Given the description of an element on the screen output the (x, y) to click on. 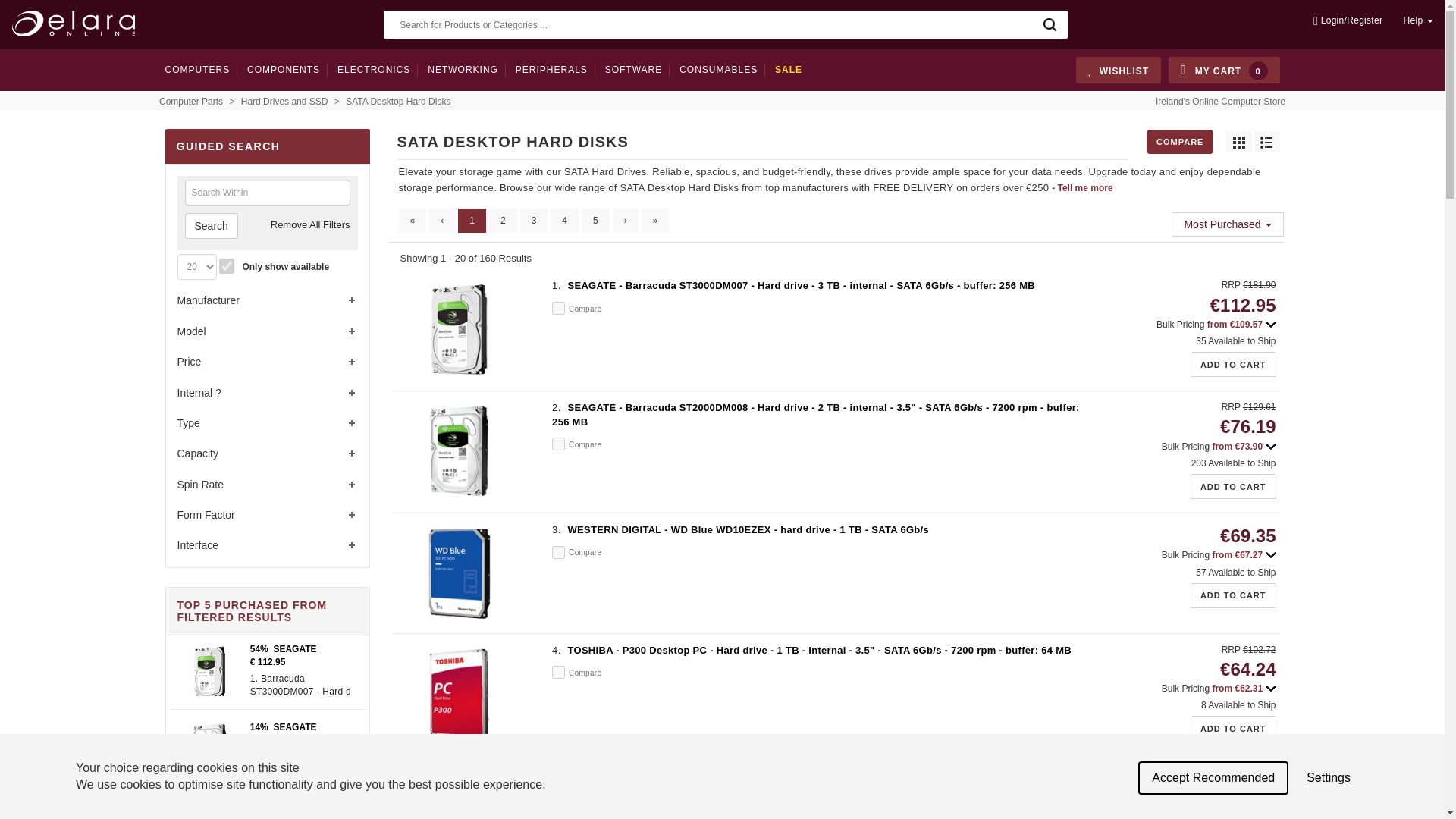
Search for Products (1049, 24)
Elara Online Ireland (75, 23)
on (557, 552)
Help Menu (1412, 20)
Change to Grid View (1237, 141)
Page 5 (595, 220)
Compare (1179, 141)
Add to Cart (1233, 728)
on (557, 443)
First Page (412, 220)
Next Page (625, 220)
Page 3 (533, 220)
Change to List View (1266, 141)
Previous Page (441, 220)
on (557, 671)
